Given the description of an element on the screen output the (x, y) to click on. 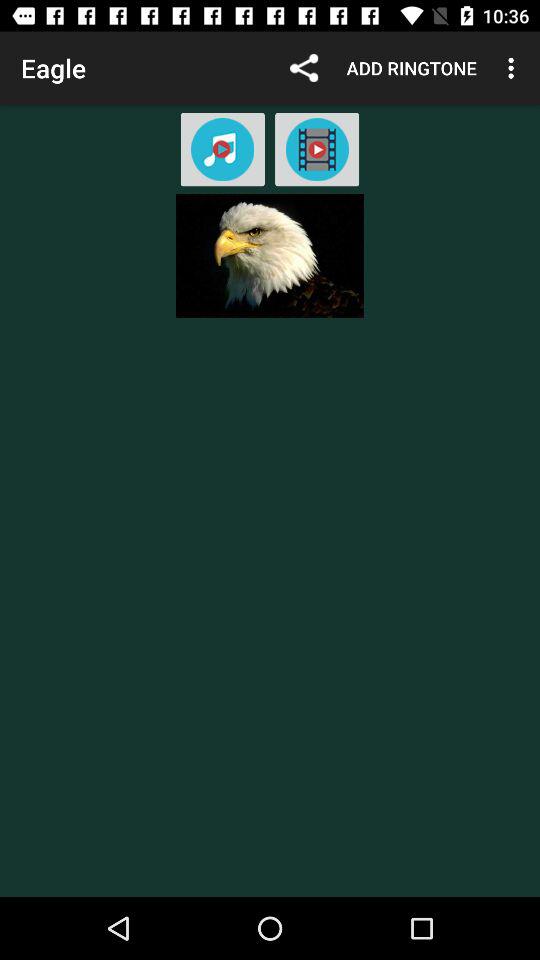
turn off the add ringtone item (411, 67)
